Given the description of an element on the screen output the (x, y) to click on. 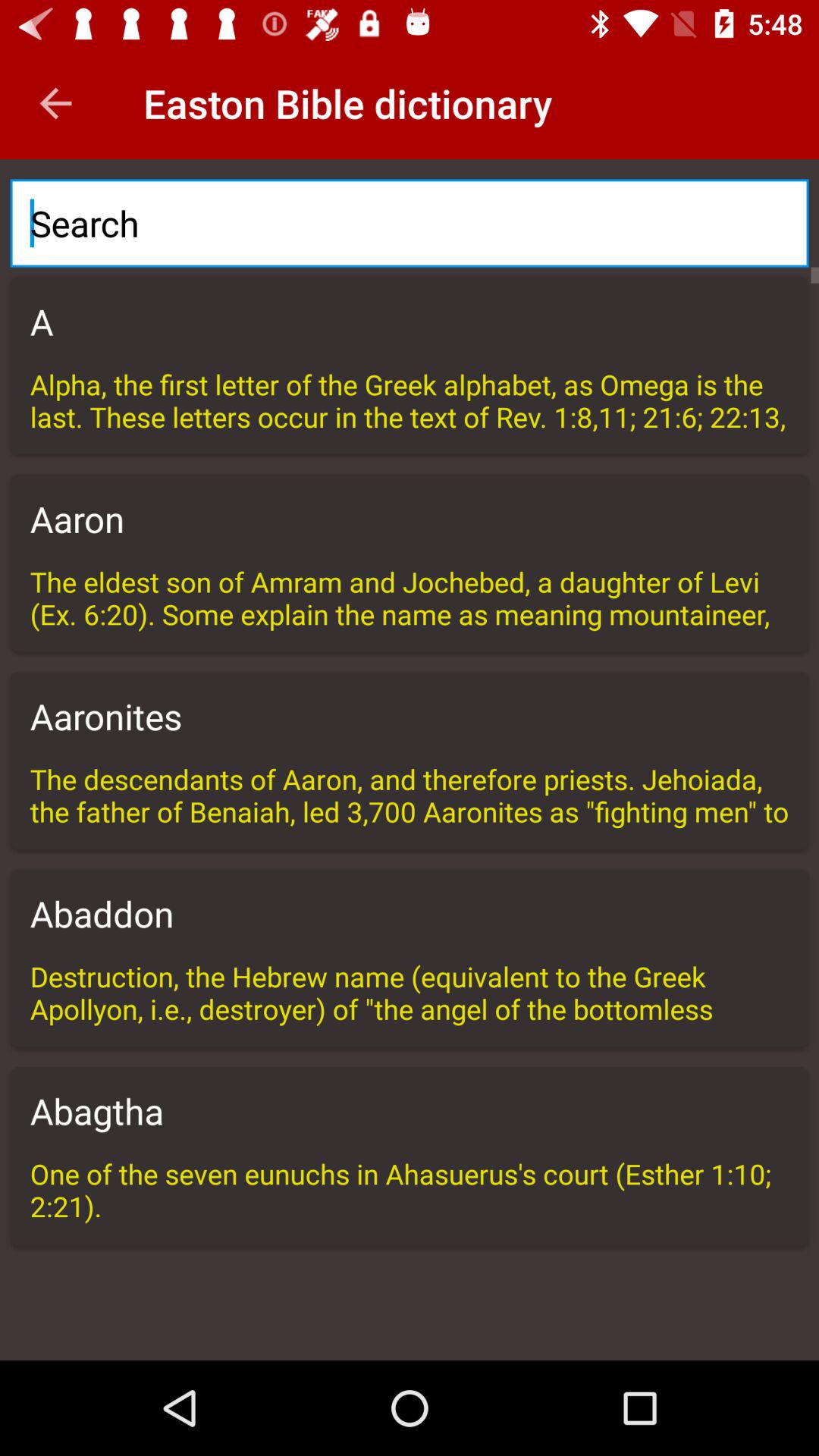
turn off the item next to the easton bible dictionary icon (55, 103)
